Given the description of an element on the screen output the (x, y) to click on. 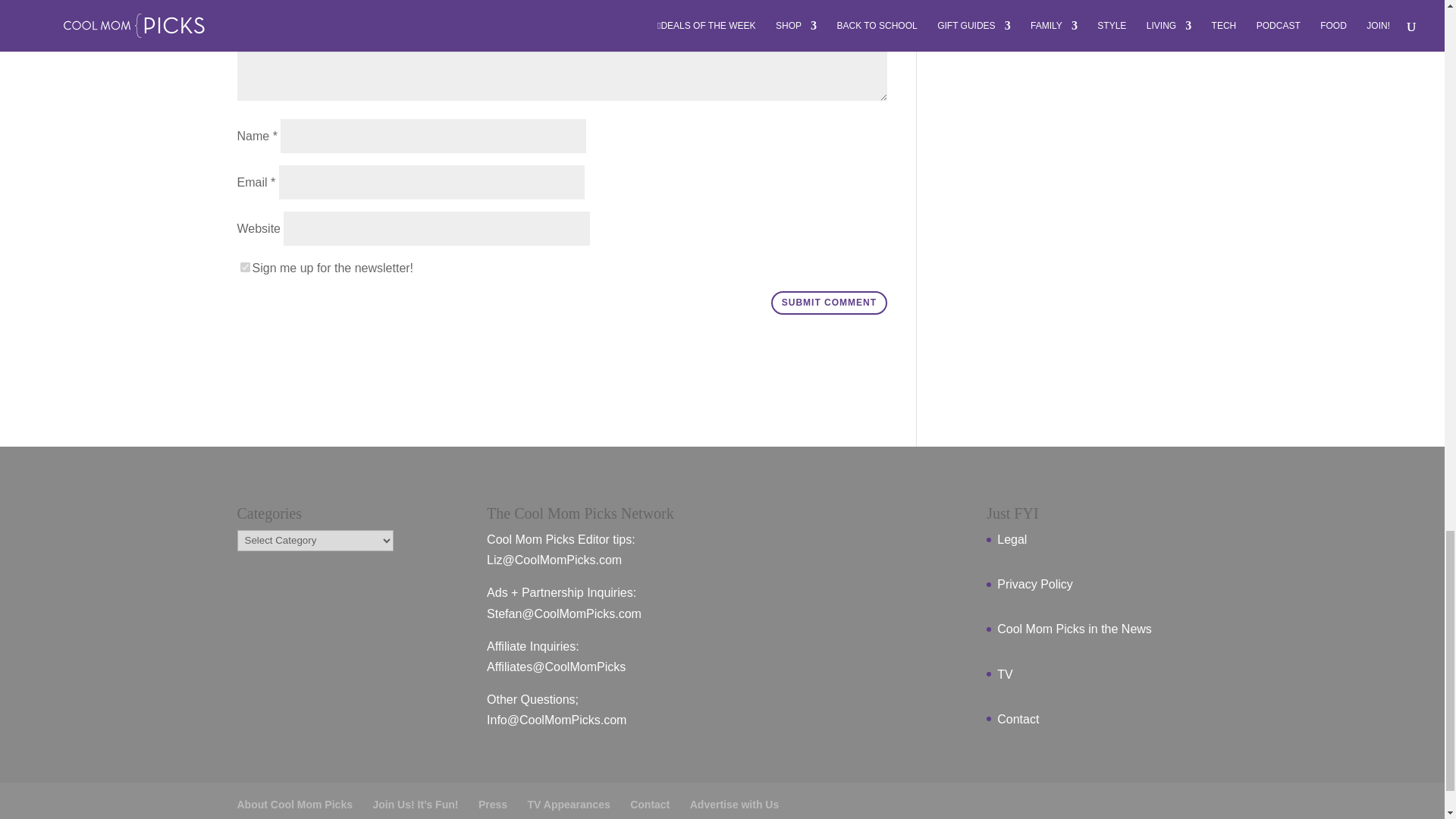
Submit Comment (828, 303)
1 (244, 266)
About Cool Mom Picks (293, 804)
